Given the description of an element on the screen output the (x, y) to click on. 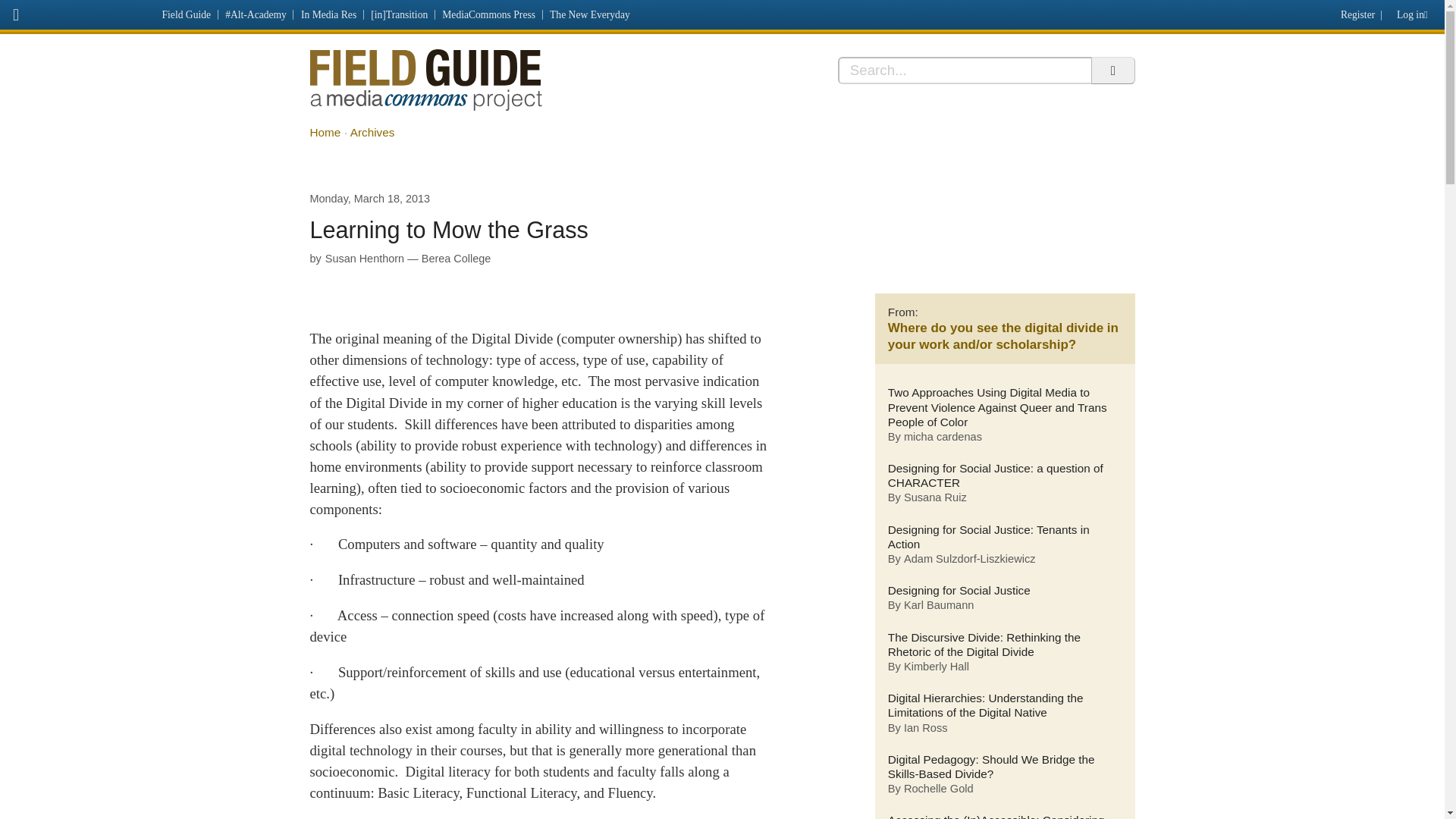
Fieldguide (424, 80)
Home (324, 132)
Field Guide (186, 14)
Front page (77, 11)
Archives (372, 132)
In Media Res (328, 14)
Enter the terms you wish to search for. (965, 70)
Susan Henthorn (364, 258)
MediaCommons Press (489, 14)
